Given the description of an element on the screen output the (x, y) to click on. 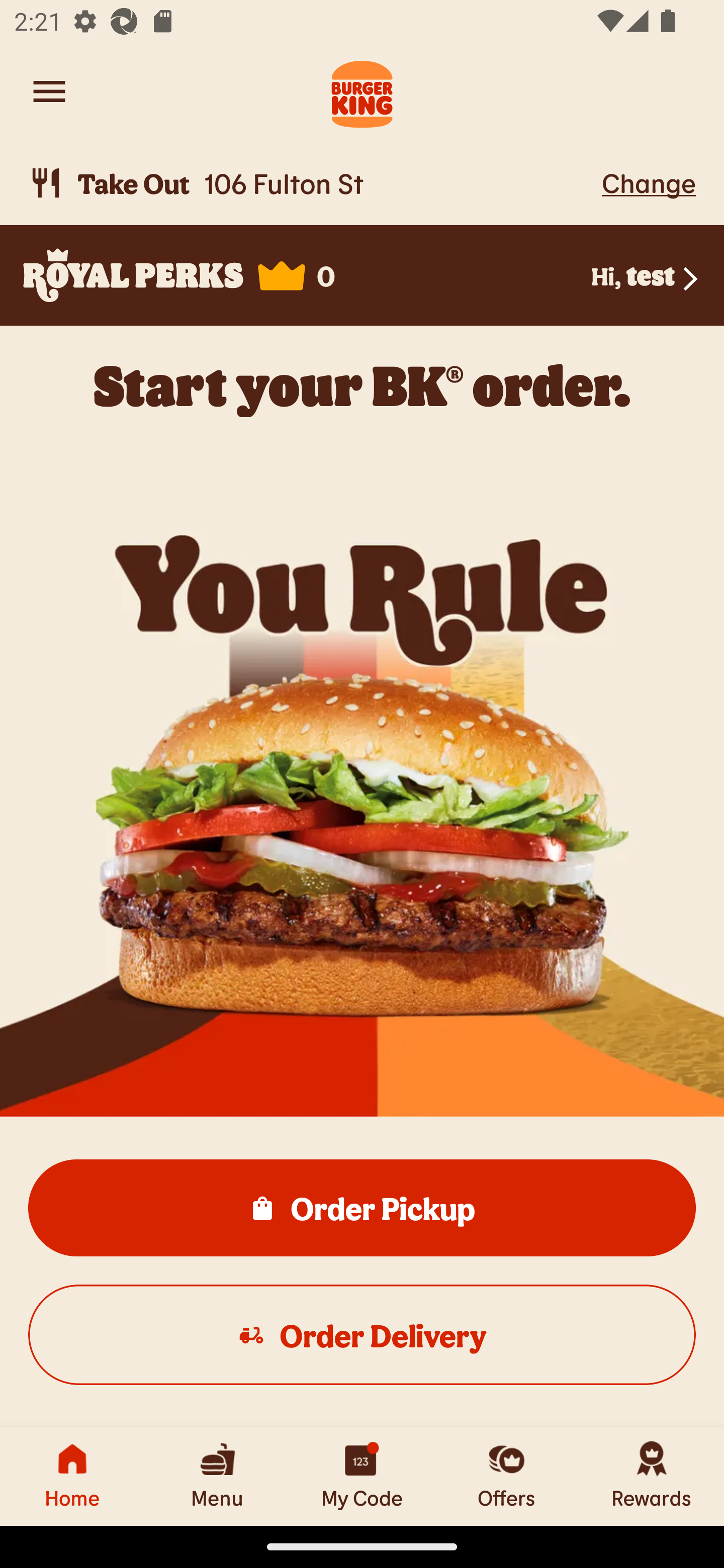
Burger King Logo. Navigate to Home (362, 91)
Navigate to account menu  (49, 91)
Take Out, 106 Fulton St  Take Out 106 Fulton St (311, 183)
Change (648, 182)
Start your BK® order. (361, 385)
, Order Pickup  Order Pickup (361, 1206)
, Order Delivery  Order Delivery (361, 1334)
Home (72, 1475)
Menu (216, 1475)
My Code (361, 1475)
Offers (506, 1475)
Rewards (651, 1475)
